Given the description of an element on the screen output the (x, y) to click on. 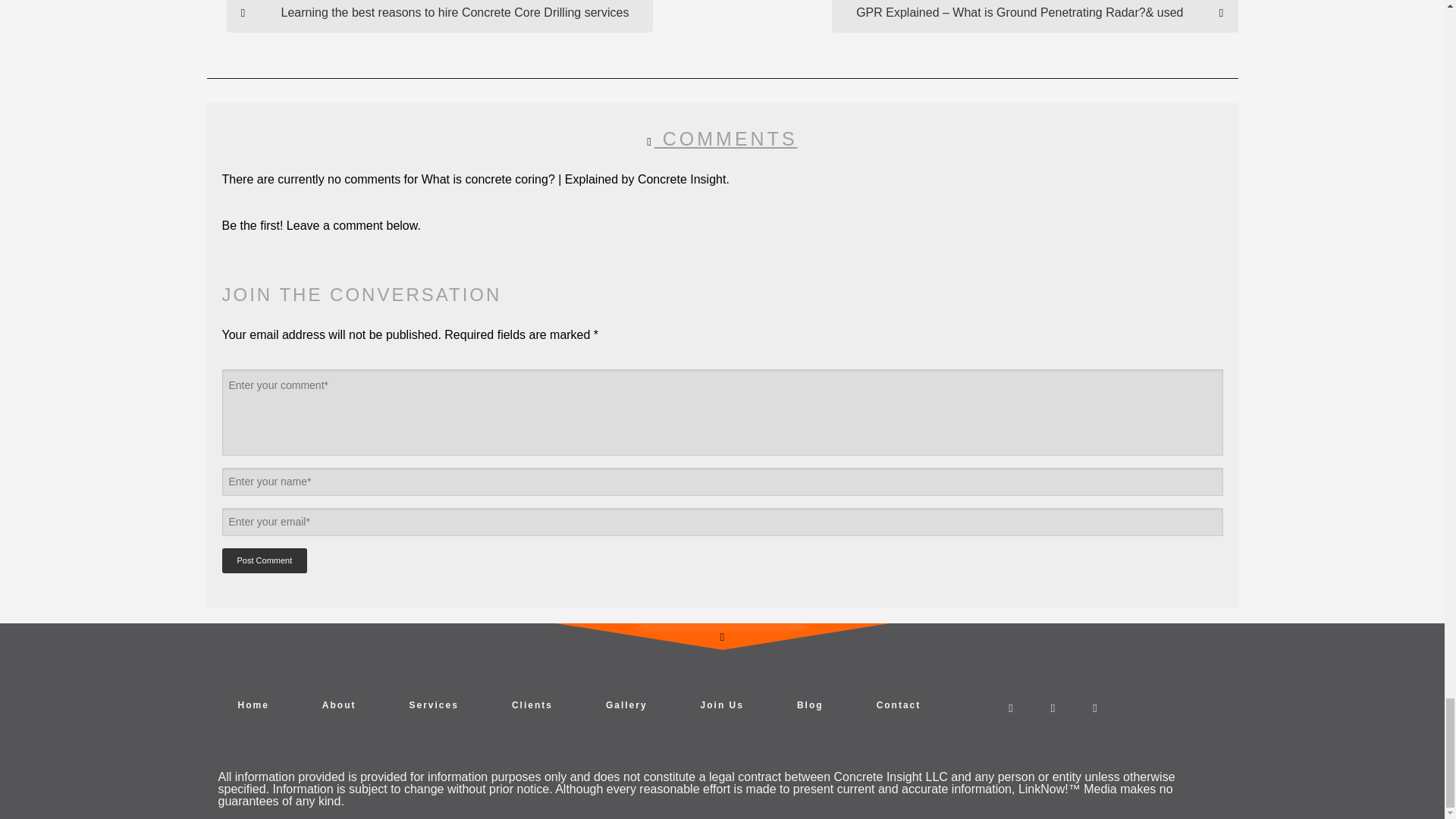
Post Comment (264, 560)
Visit Our Facebook (1052, 707)
Visit Our Linked In (1094, 707)
Visit Our Google My Business (1010, 707)
